Given the description of an element on the screen output the (x, y) to click on. 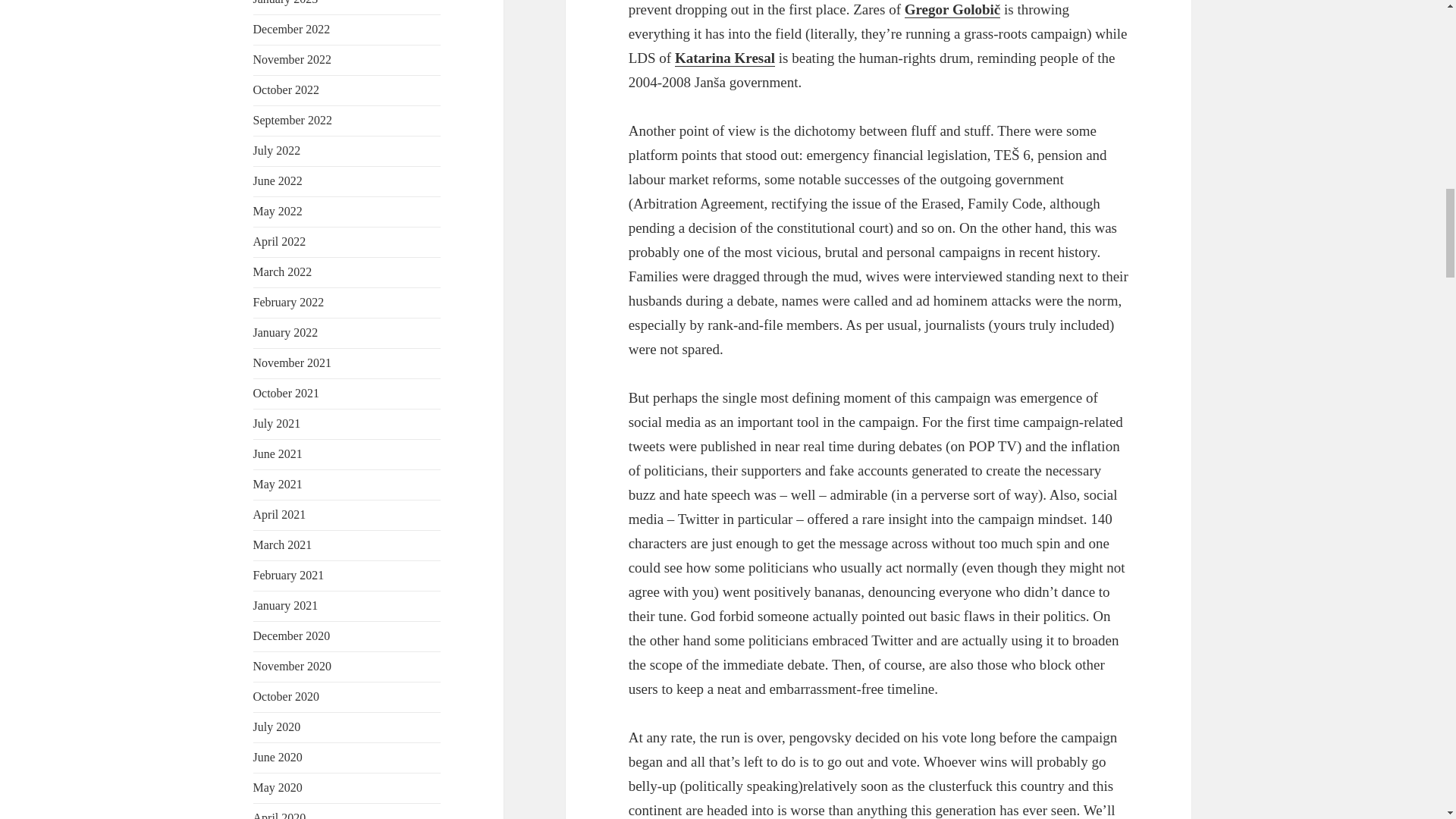
January 2023 (285, 2)
May 2022 (277, 210)
November 2022 (292, 59)
October 2022 (286, 89)
September 2022 (292, 119)
April 2022 (279, 241)
Katarina Kresal (724, 57)
December 2022 (291, 29)
June 2022 (277, 180)
July 2022 (277, 150)
